Given the description of an element on the screen output the (x, y) to click on. 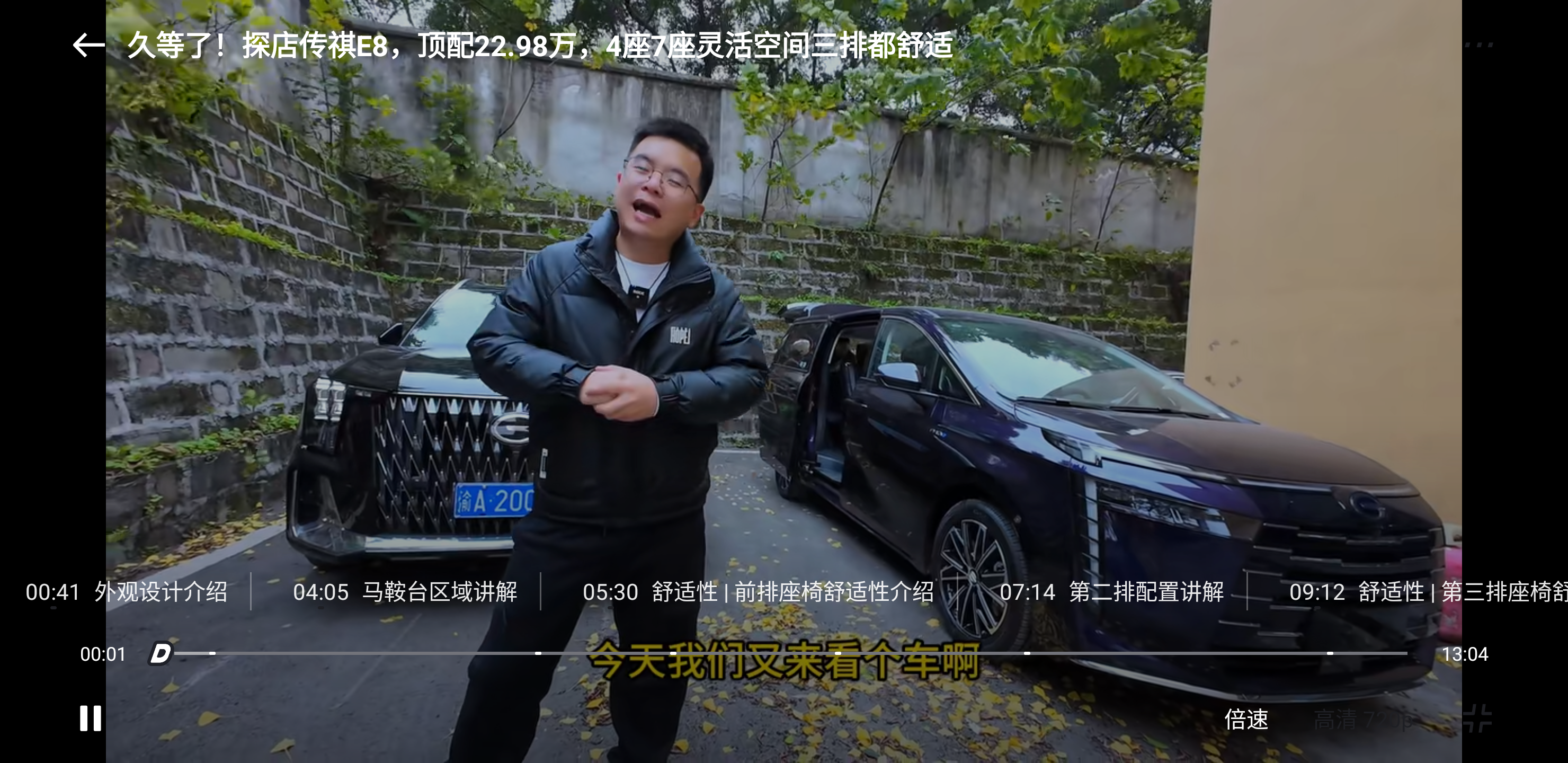
 (89, 44)
 (1478, 44)
00:41 外观设计介绍 (125, 591)
04:05 马鞍台区域讲解 (404, 591)
05:30 舒适性 | 前排座椅舒适性介绍 (757, 591)
07:14 第二排配置讲解 (1110, 591)
09:12 舒适性 | 第三排座椅舒适性介绍 (1415, 591)
 (90, 718)
 (1476, 718)
倍速 (1246, 718)
高清 720p (1363, 718)
